Given the description of an element on the screen output the (x, y) to click on. 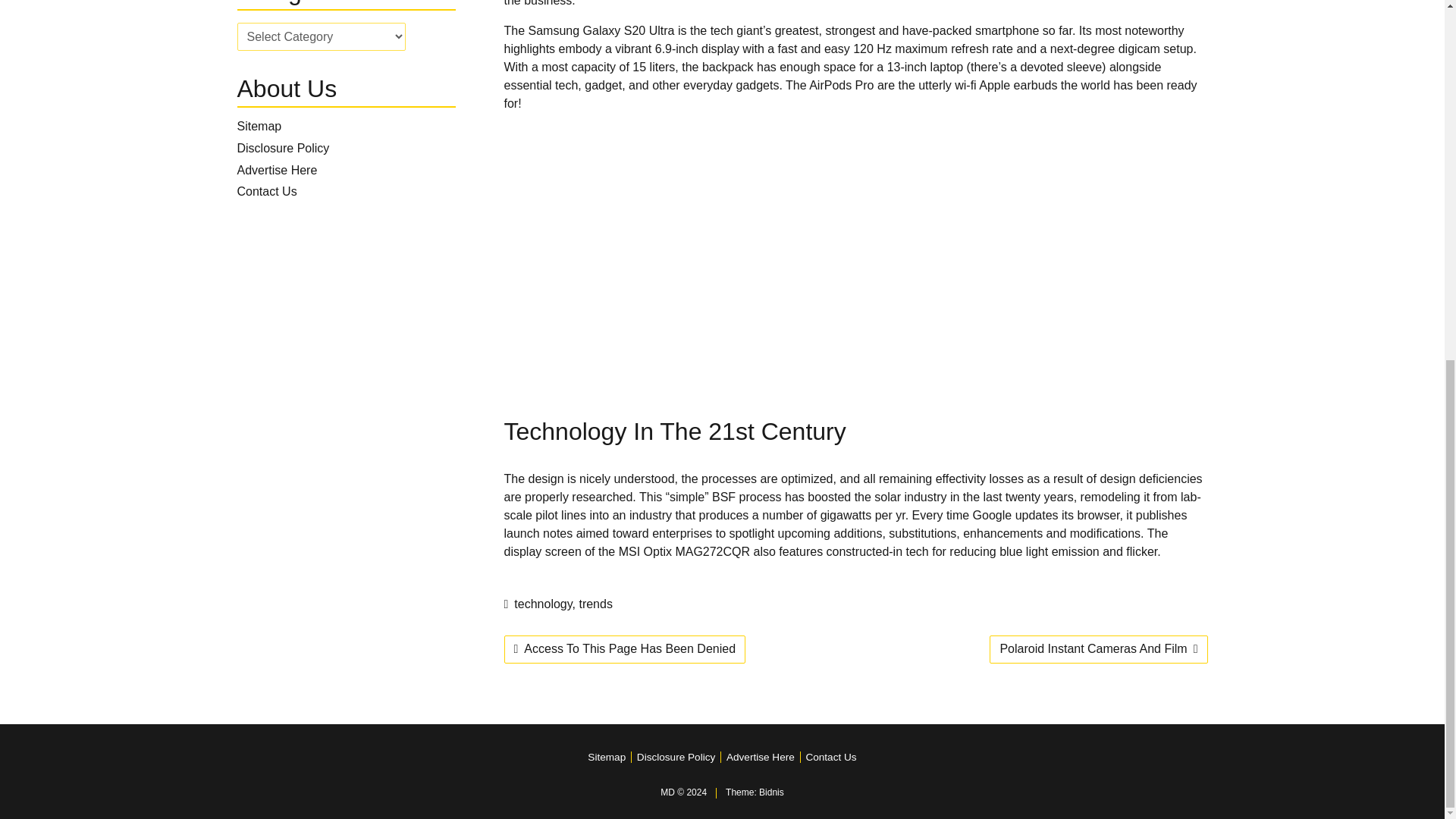
Disclosure Policy (282, 147)
Advertise Here (276, 169)
Sitemap (258, 125)
Contact Us (266, 191)
